Given the description of an element on the screen output the (x, y) to click on. 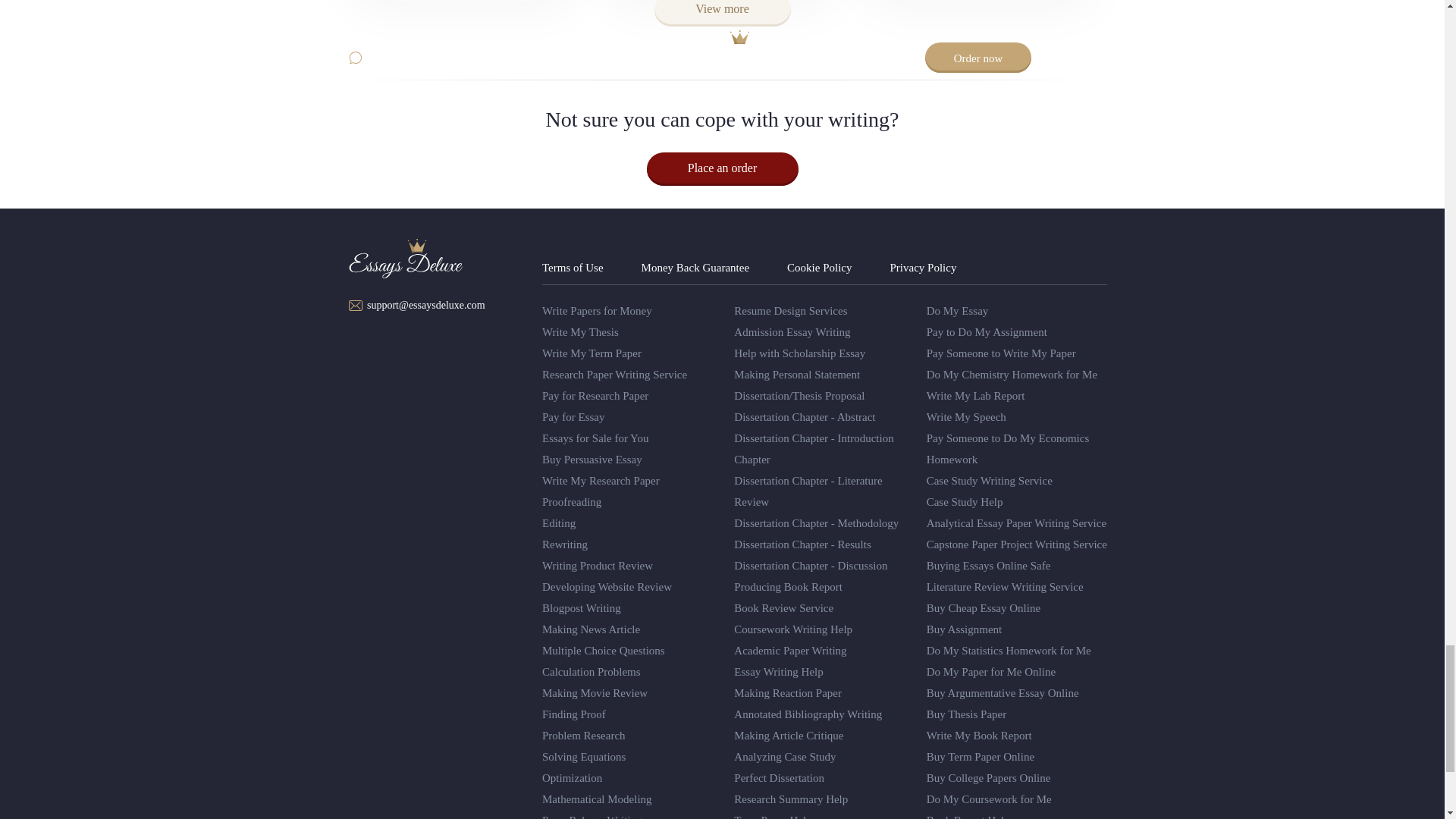
Write My Term Paper (591, 353)
Write My Thesis (579, 331)
Write My Research Paper (600, 480)
Place an order (721, 168)
Privacy Policy (922, 267)
Pay for Research Paper (594, 395)
Terms of Use (572, 267)
Write Papers for Money (596, 310)
Money Back Guarantee (695, 267)
Essays for Sale for You (594, 438)
